Given the description of an element on the screen output the (x, y) to click on. 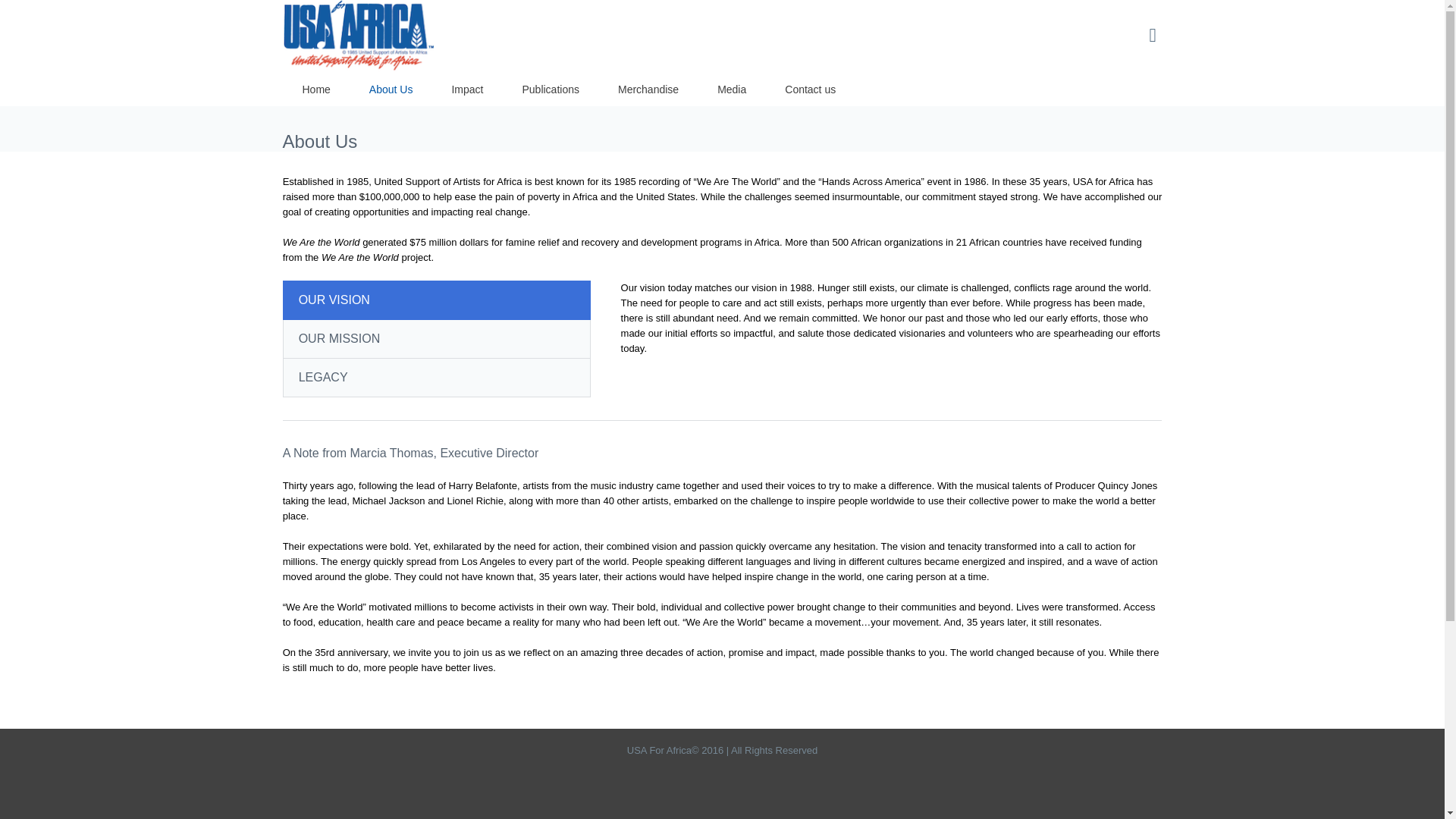
OUR MISSION (436, 339)
Twitter (628, 689)
Contact us (810, 89)
Publications (550, 89)
About Us (391, 89)
Home (315, 89)
LEGACY (436, 377)
Merchandise (648, 89)
Skype (822, 689)
OUR VISION (436, 300)
